Given the description of an element on the screen output the (x, y) to click on. 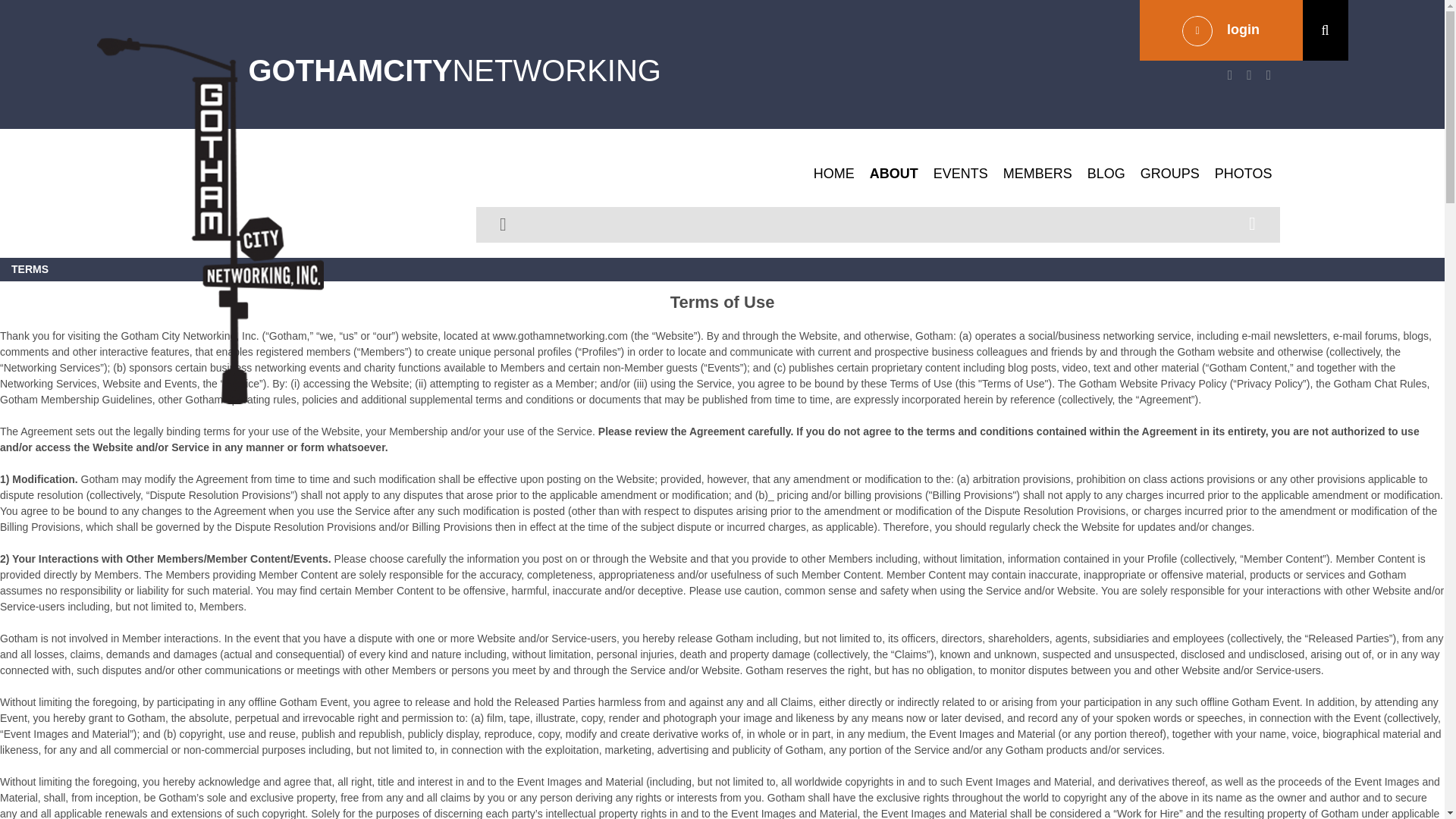
GROUPS (1169, 173)
HOME (833, 173)
EVENTS (960, 173)
GOTHAMCITYNETWORKING (454, 70)
MEMBERS (1037, 173)
ABOUT (893, 173)
BLOG (1106, 173)
PHOTOS (1243, 173)
Share (1252, 223)
